Given the description of an element on the screen output the (x, y) to click on. 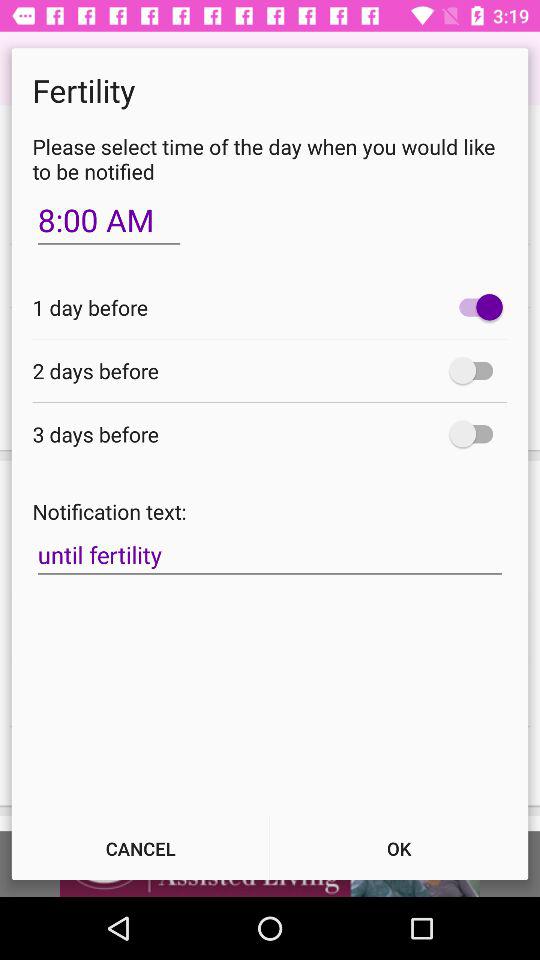
set reminder (476, 370)
